Given the description of an element on the screen output the (x, y) to click on. 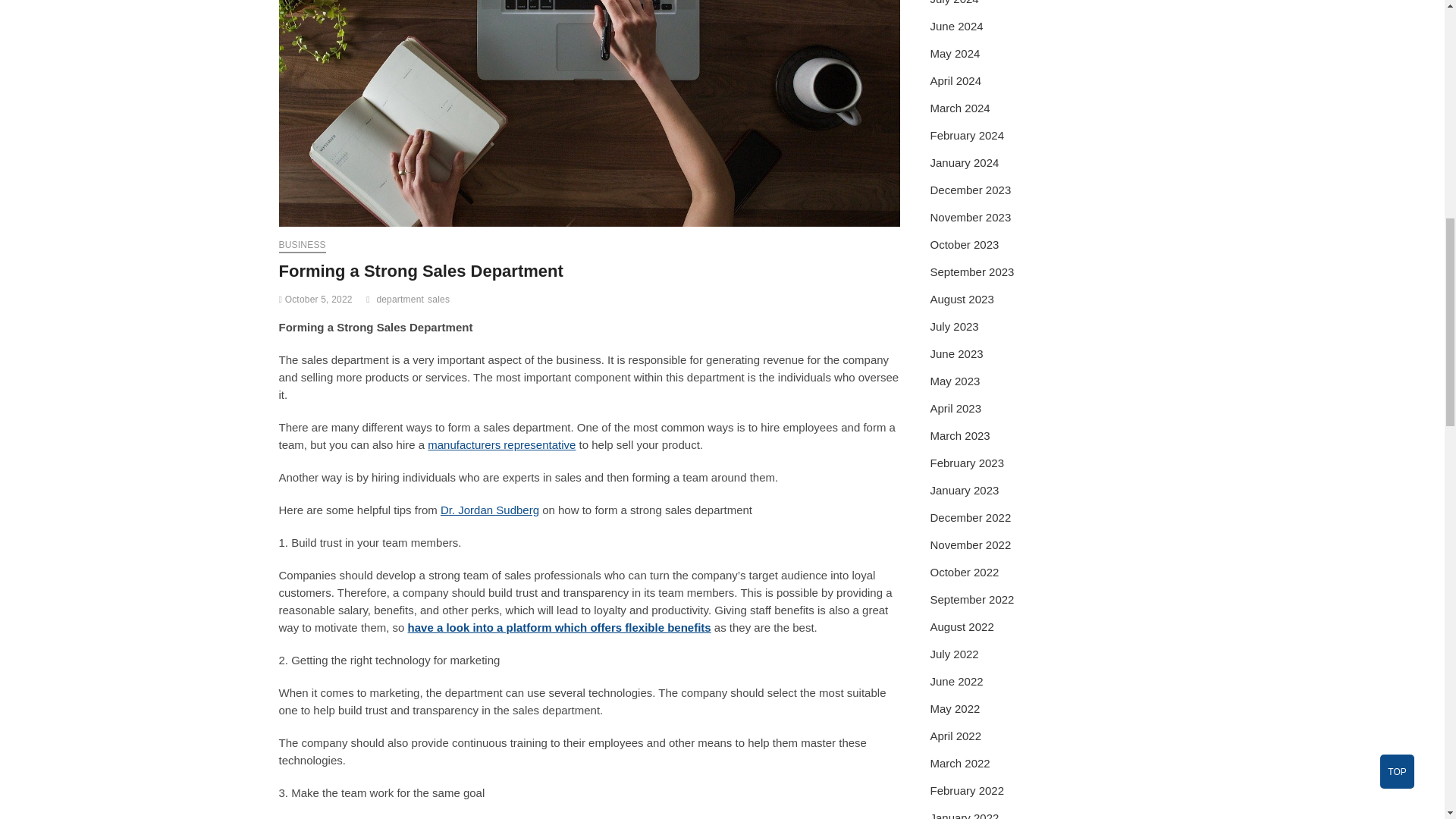
BUSINESS (302, 246)
March 2024 (960, 107)
July 2024 (954, 2)
have a look into a platform which offers flexible benefits (559, 626)
manufacturers representative (501, 444)
sales (440, 301)
October 2023 (964, 244)
May 2023 (954, 380)
June 2023 (956, 353)
April 2024 (955, 80)
